Given the description of an element on the screen output the (x, y) to click on. 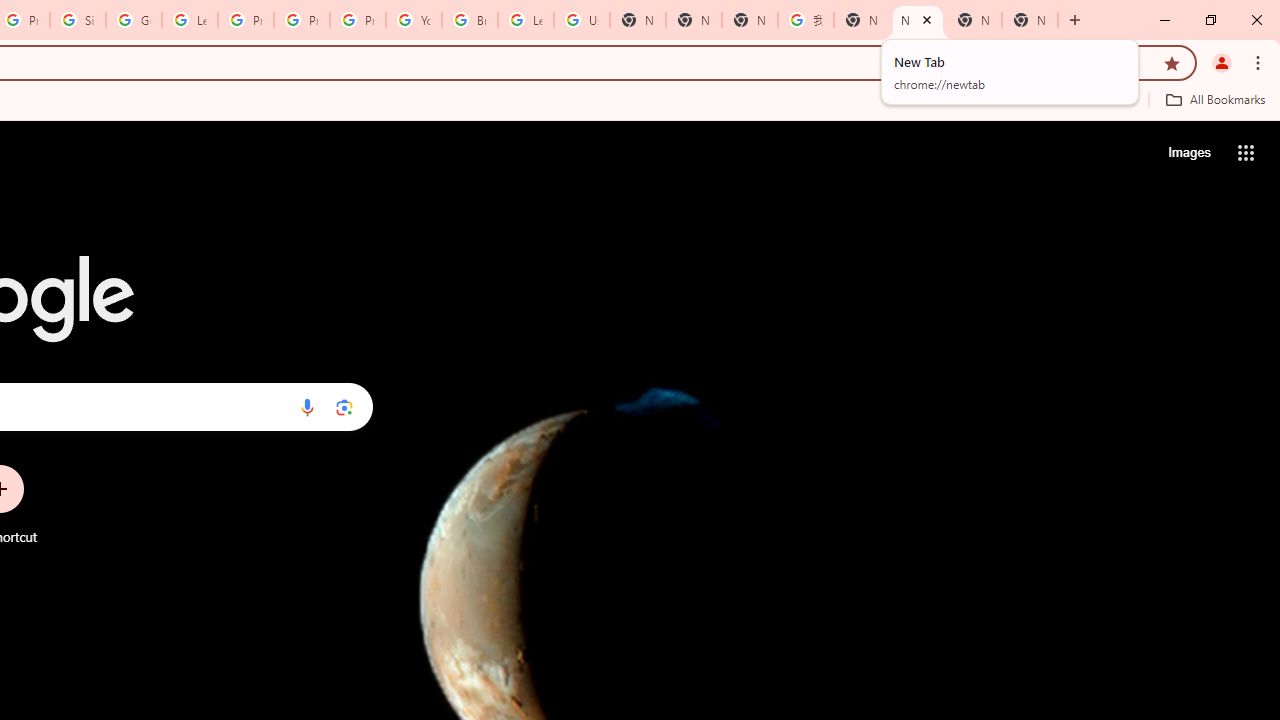
Privacy Help Center - Policies Help (301, 20)
New Tab (1030, 20)
